Given the description of an element on the screen output the (x, y) to click on. 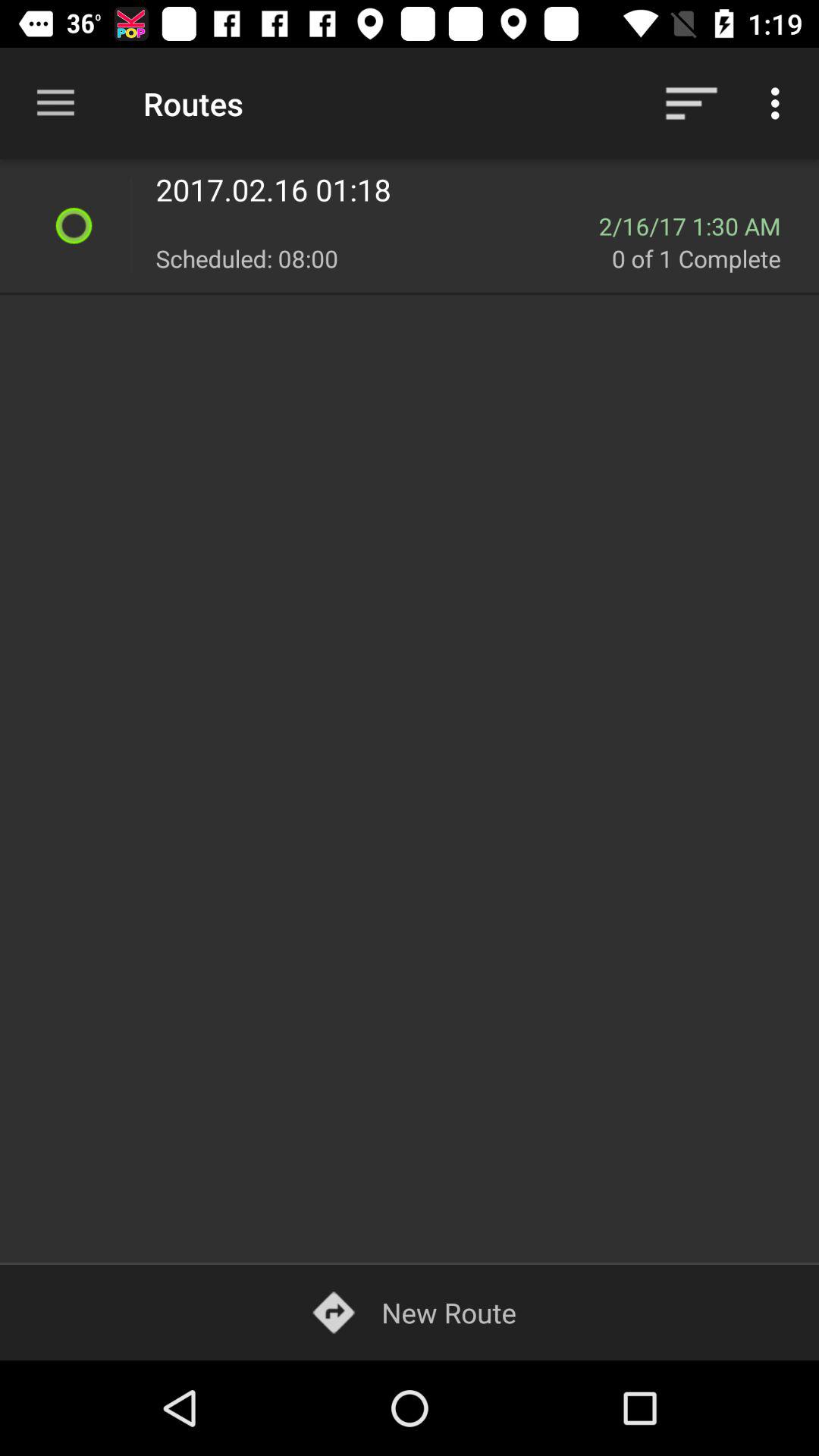
open the item to the left of 0 of 1 (383, 258)
